Given the description of an element on the screen output the (x, y) to click on. 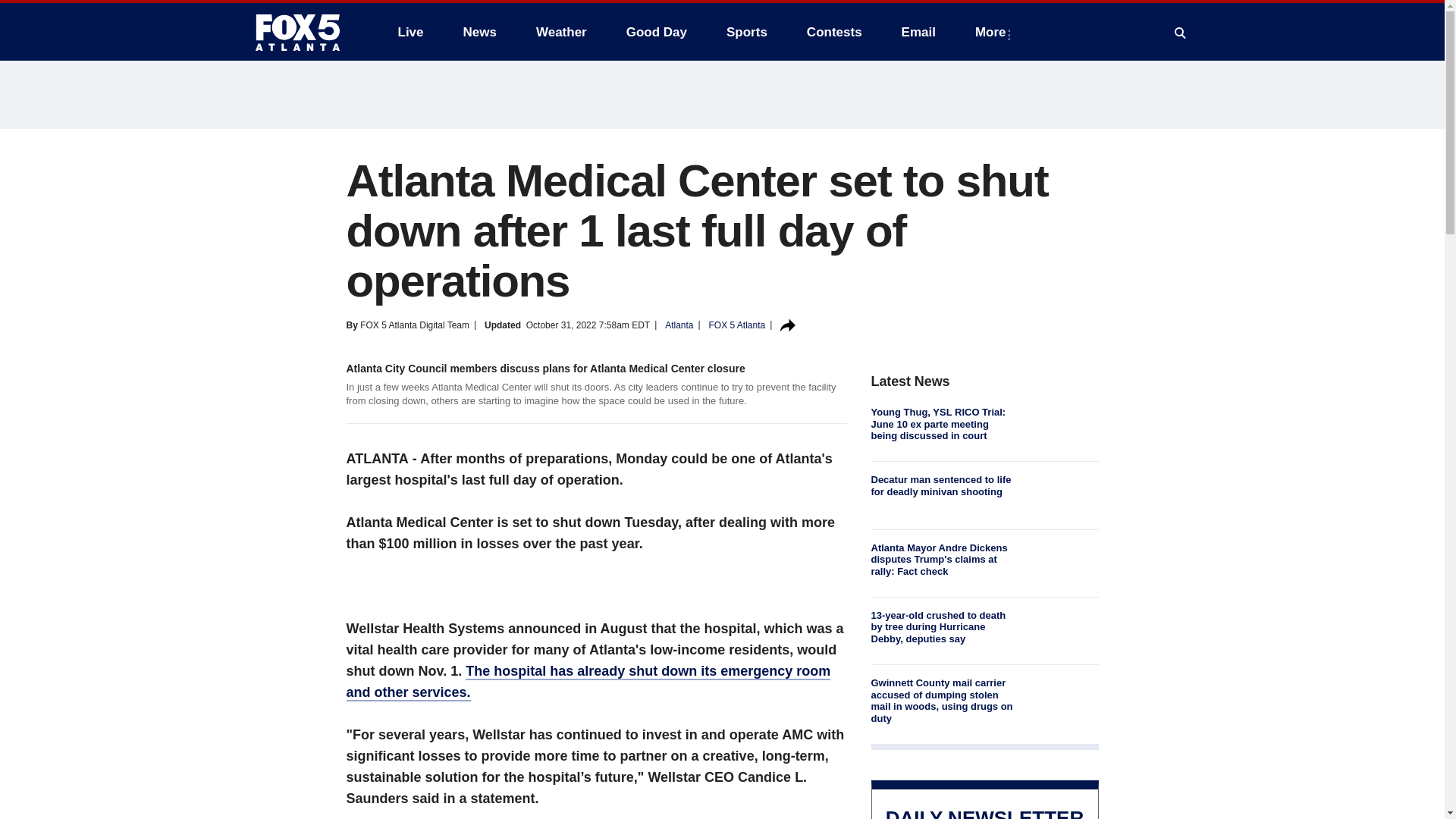
Live (410, 32)
Contests (834, 32)
Weather (561, 32)
Good Day (656, 32)
Sports (746, 32)
News (479, 32)
Email (918, 32)
More (993, 32)
